Given the description of an element on the screen output the (x, y) to click on. 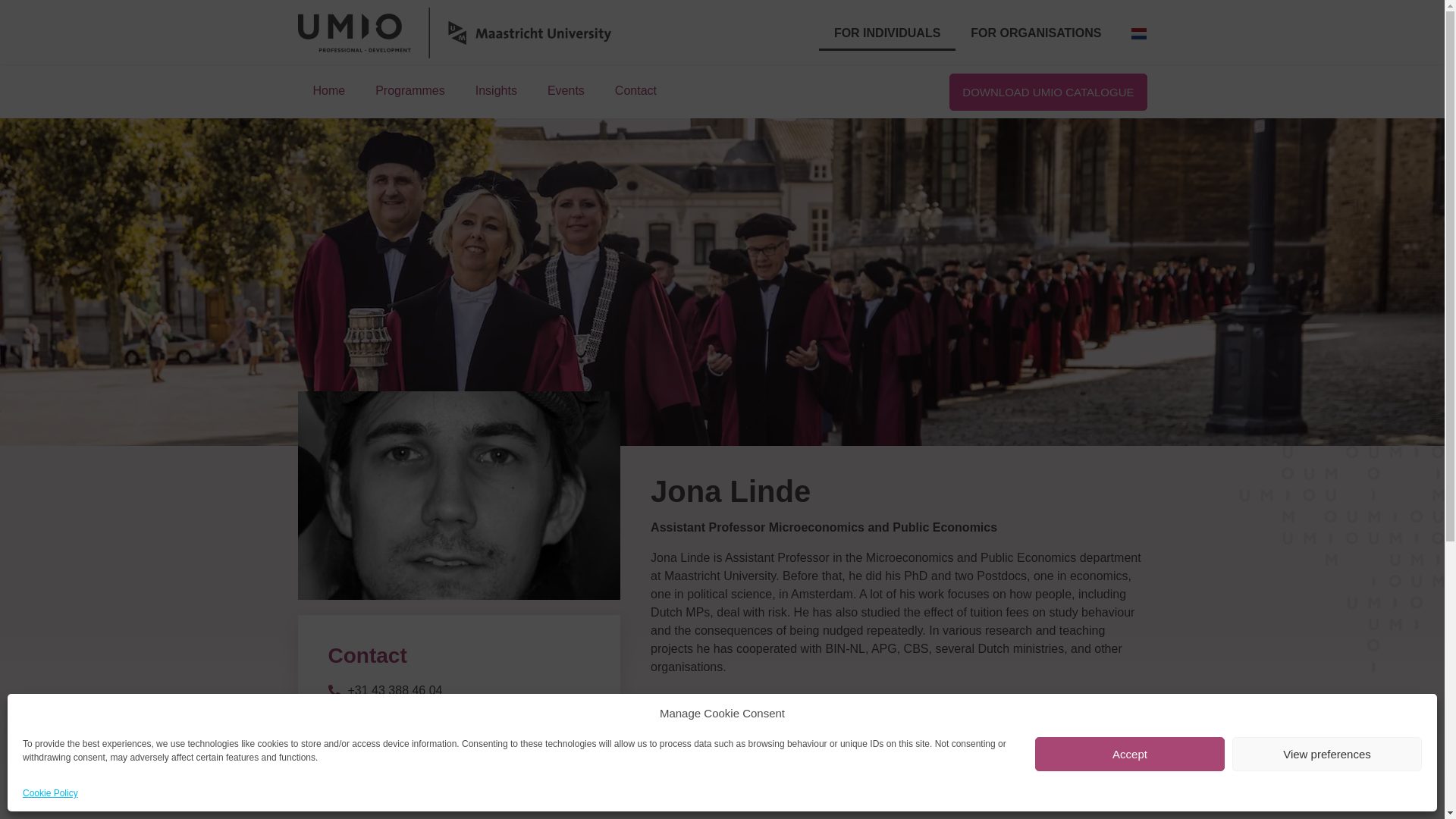
View preferences (1326, 754)
Cookie Policy (50, 793)
Programmes (409, 90)
Contact (635, 90)
Events (565, 90)
FOR ORGANISATIONS (1035, 32)
Home (328, 90)
Insights (496, 90)
FOR INDIVIDUALS (886, 32)
Send a message (382, 716)
View at Maastricht University (414, 742)
Accept (1129, 754)
DOWNLOAD UMIO CATALOGUE (1048, 91)
